Given the description of an element on the screen output the (x, y) to click on. 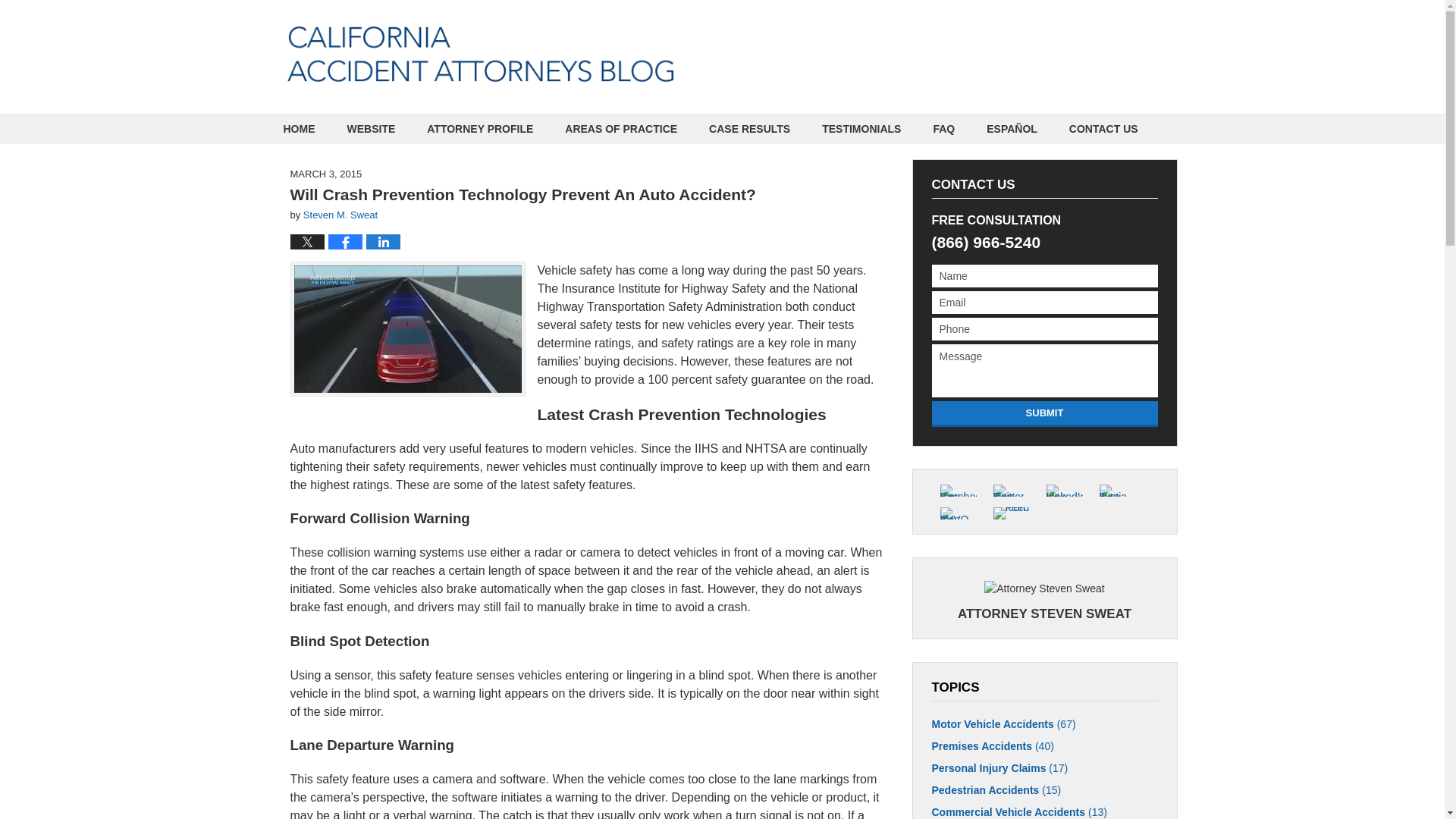
Facebook (957, 490)
California Accident Attorneys Blog (480, 53)
CONTACT US (1103, 128)
LinkedIn (1063, 490)
by Steven M. Sweat, Personal Injury Lawyers, APC (1057, 56)
TESTIMONIALS (861, 128)
FAQ (944, 128)
WEBSITE (370, 128)
Justia (1116, 490)
Steven M. Sweat (339, 214)
HOME (298, 128)
Feed (1010, 512)
CASE RESULTS (749, 128)
AREAS OF PRACTICE (620, 128)
Twitter (1010, 490)
